Given the description of an element on the screen output the (x, y) to click on. 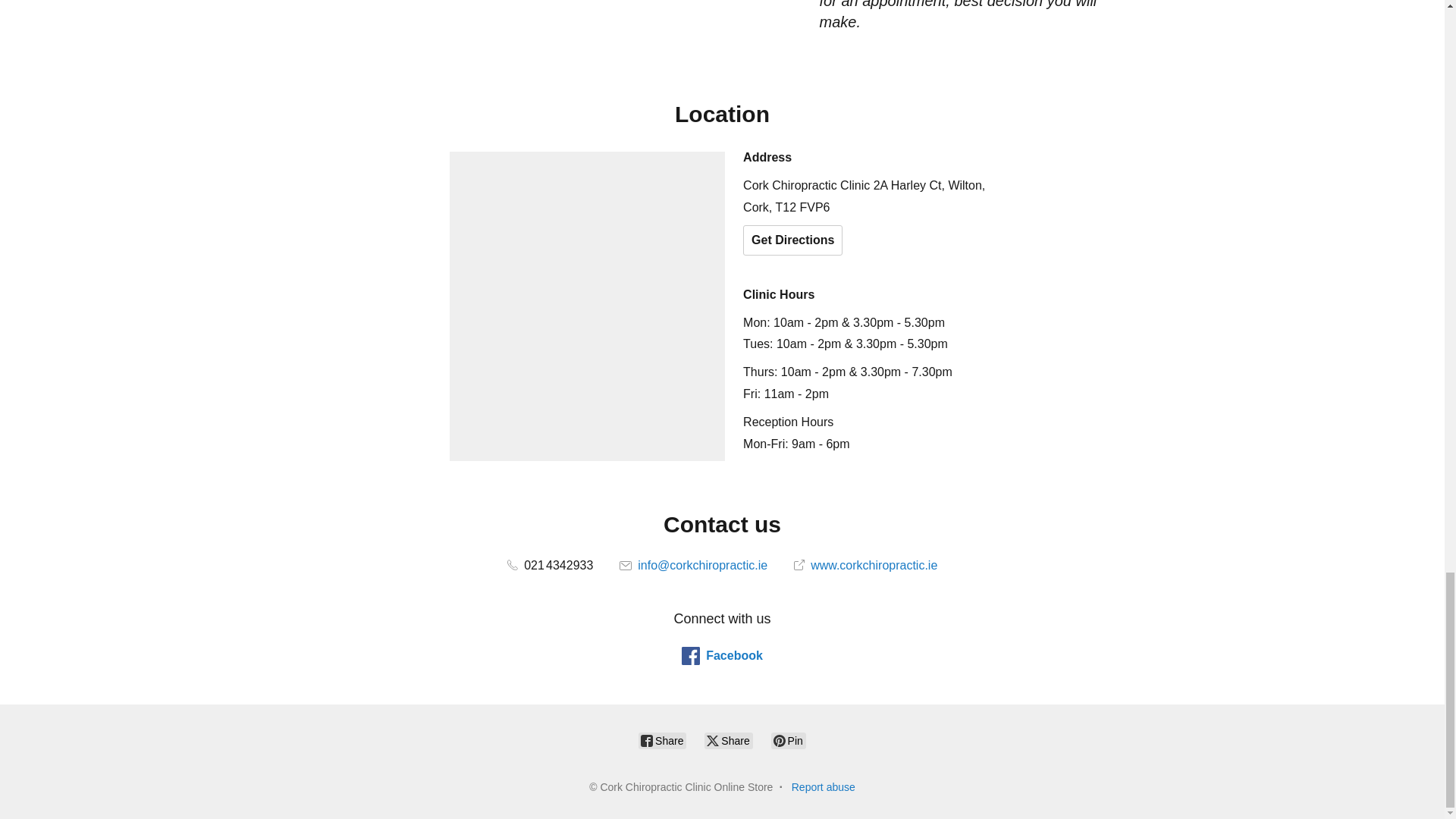
www.corkchiropractic.ie (865, 564)
Location on map (586, 306)
Share (662, 740)
Get Directions (792, 240)
Report abuse (824, 787)
Share (728, 740)
Facebook (721, 656)
Pin (788, 740)
